Given the description of an element on the screen output the (x, y) to click on. 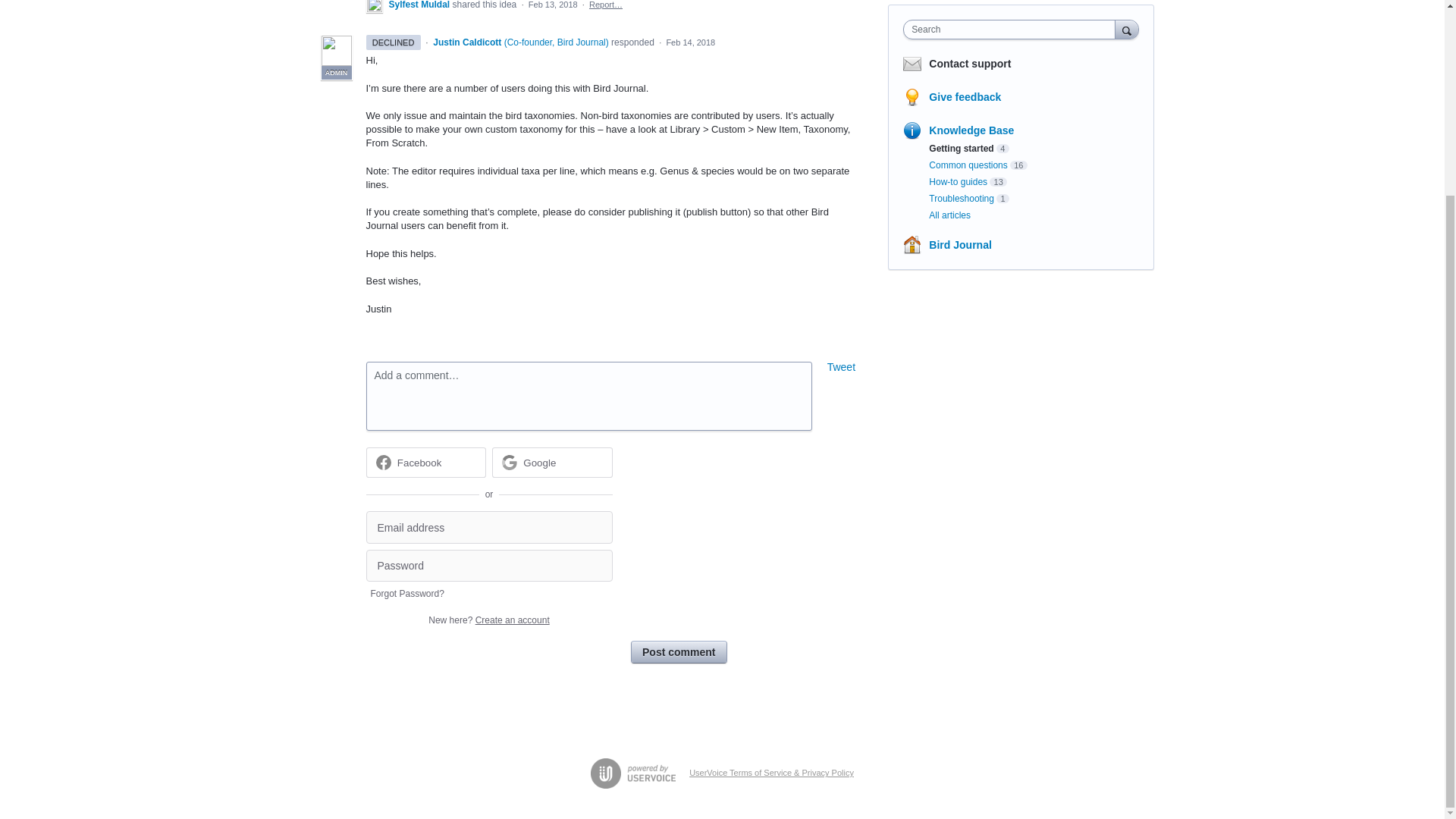
Sylfest Muldal (419, 4)
Facebook sign in (425, 462)
This idea is declined - updated over 6 years ago (392, 42)
Google sign in (552, 462)
Facebook (419, 462)
Forgot Password? (406, 593)
New here? Create an account (488, 620)
Google (539, 462)
DECLINED (392, 41)
Facebook (425, 462)
Google (552, 462)
Tweet (841, 367)
Post comment (678, 651)
